Given the description of an element on the screen output the (x, y) to click on. 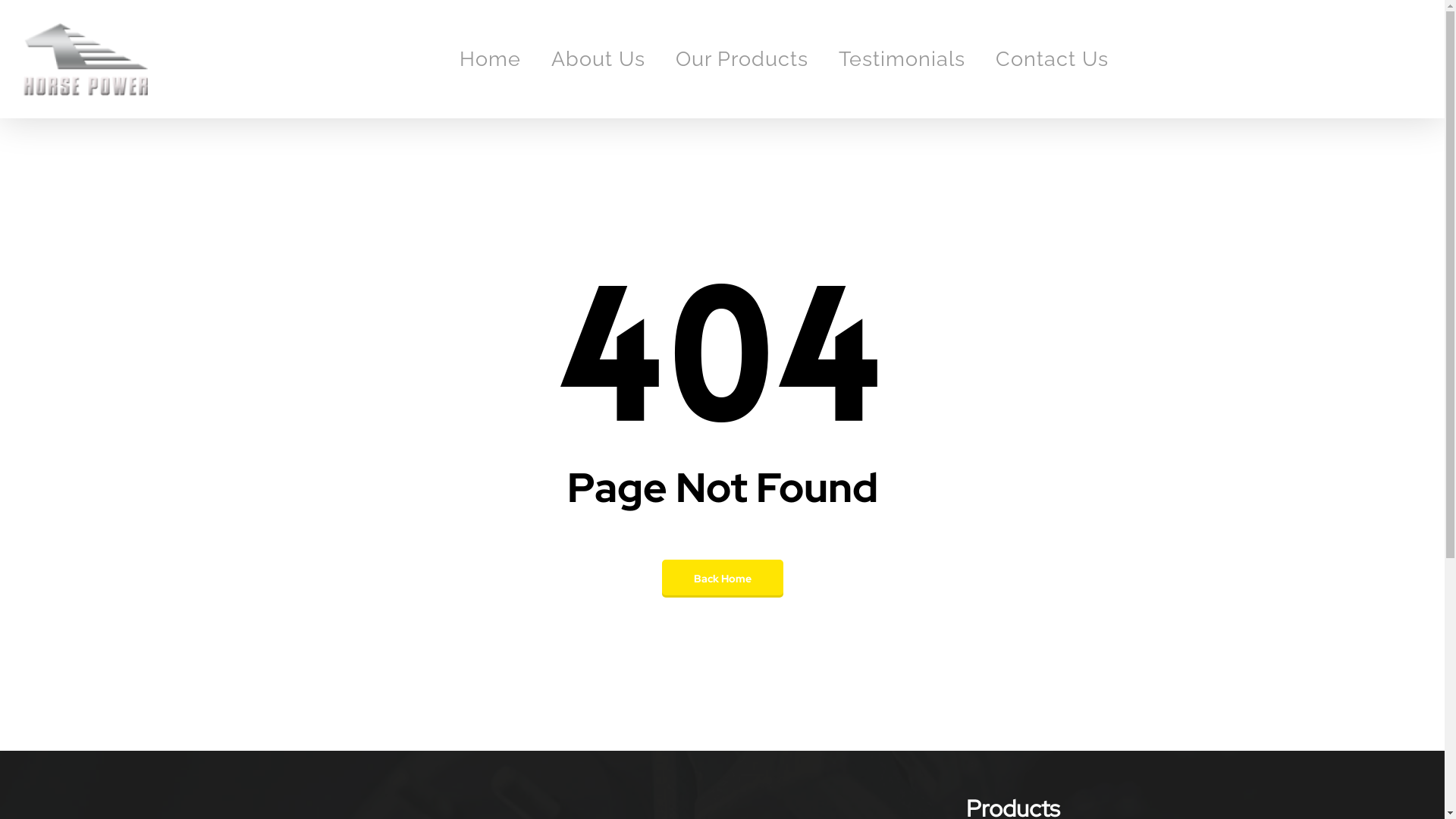
search Element type: text (1414, 58)
About Us Element type: text (598, 58)
Testimonials Element type: text (901, 58)
Back Home Element type: text (721, 578)
Contact Us Element type: text (1051, 58)
Our Products Element type: text (741, 58)
Home Element type: text (490, 58)
